Given the description of an element on the screen output the (x, y) to click on. 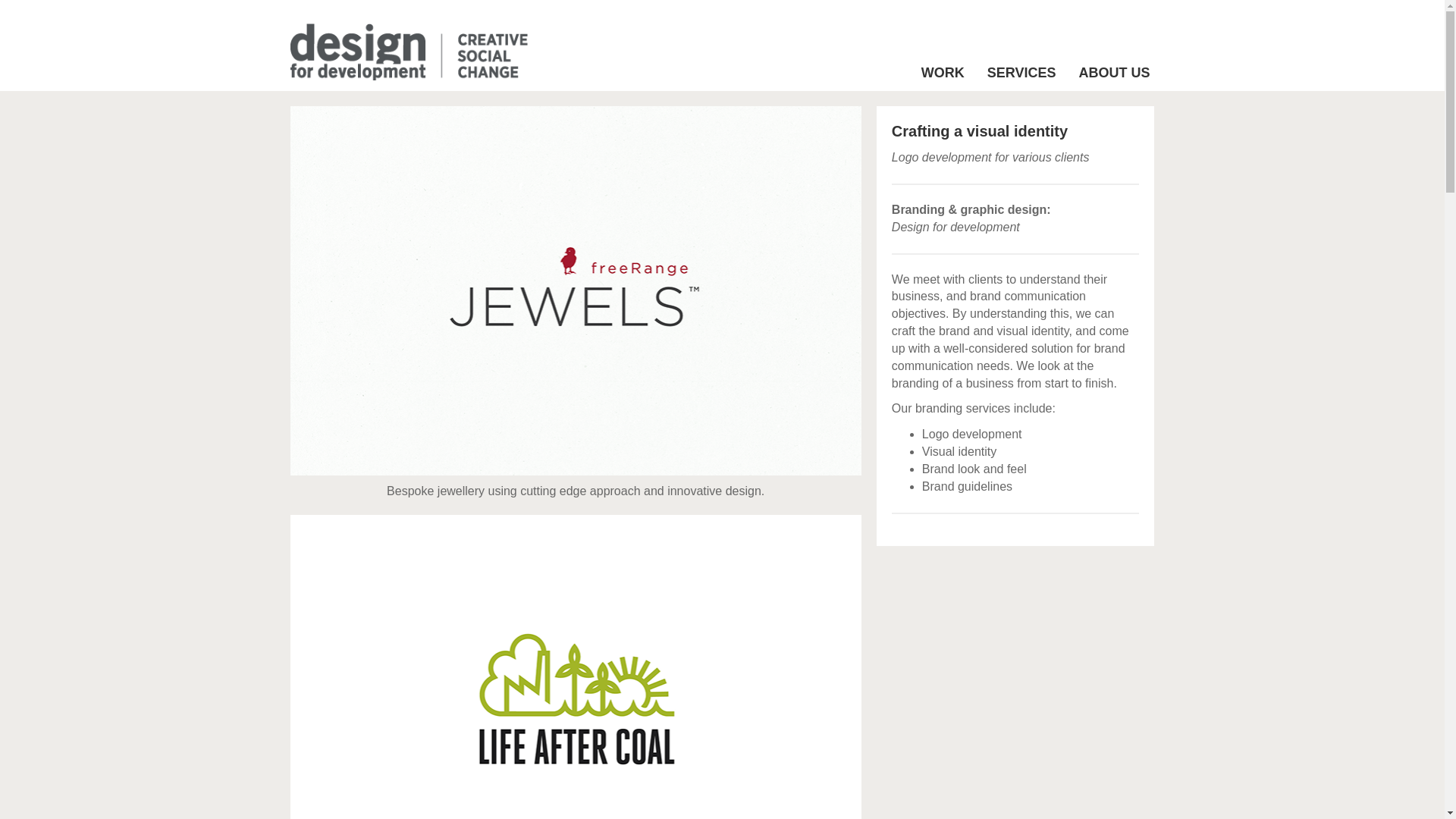
ABOUT US (1113, 72)
About us (1113, 72)
WORK (942, 72)
SERVICES (1021, 72)
Services (1021, 72)
Work (942, 72)
